Given the description of an element on the screen output the (x, y) to click on. 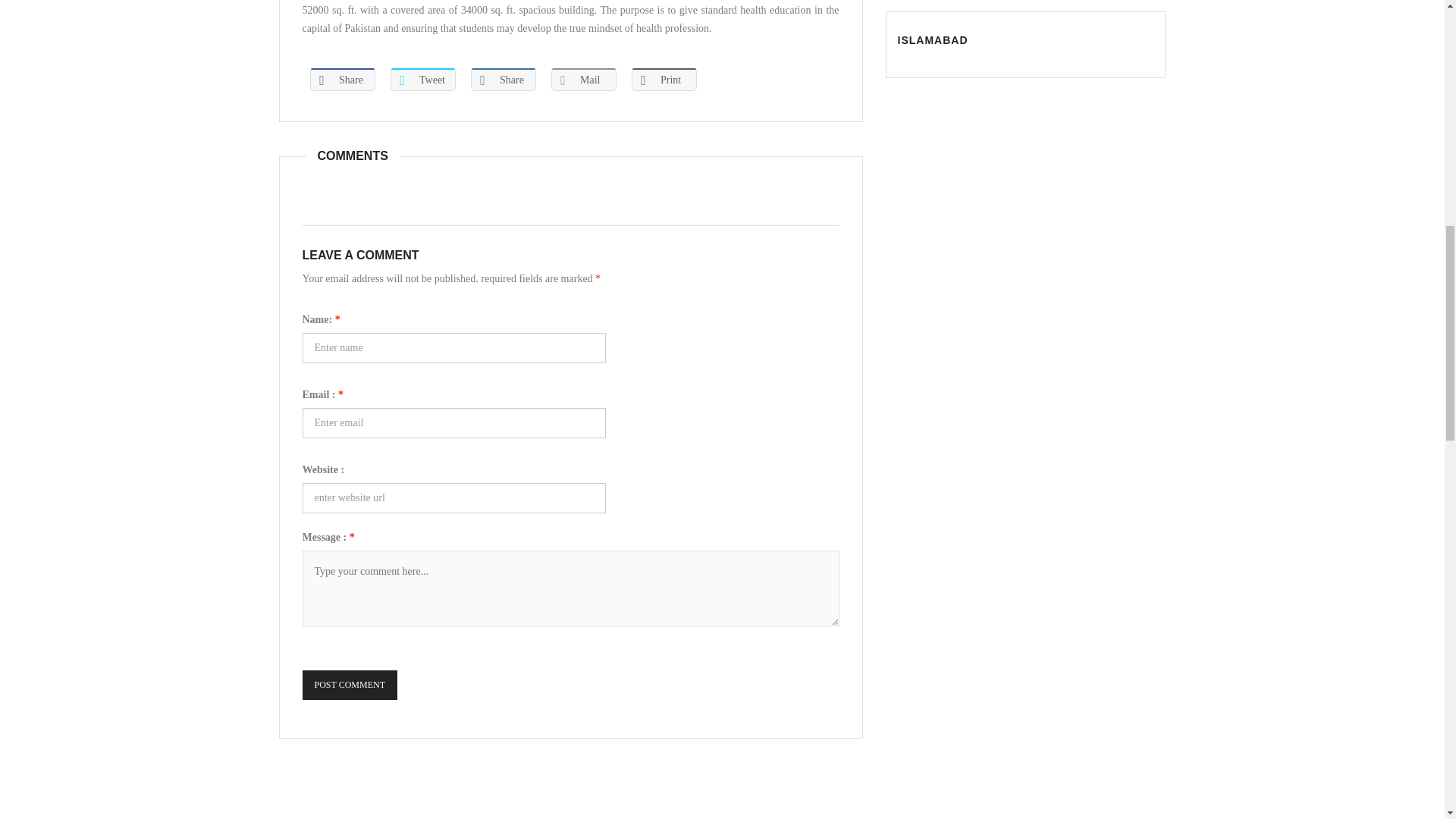
Share (341, 78)
Tweet (422, 78)
Share (502, 78)
